Given the description of an element on the screen output the (x, y) to click on. 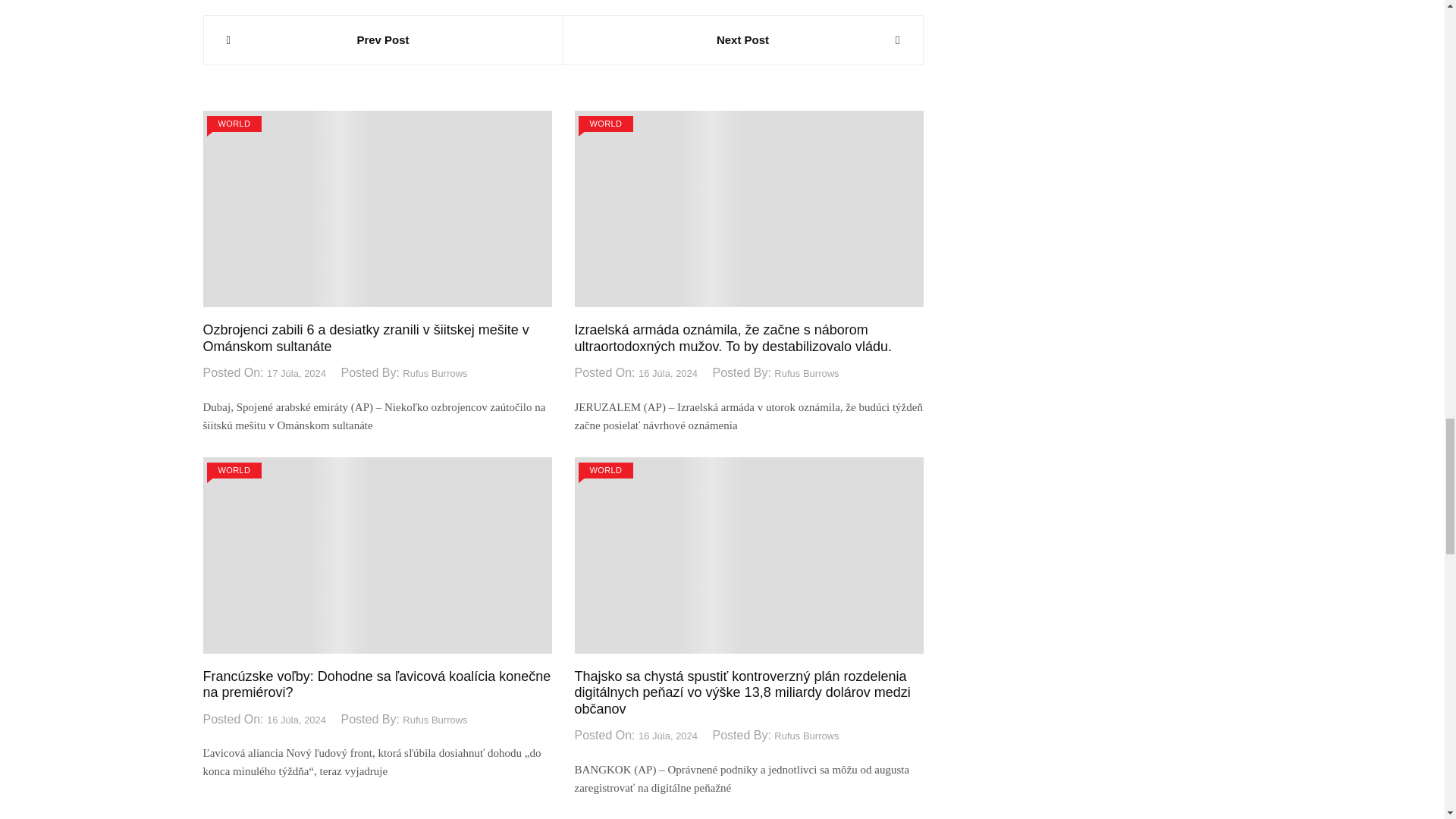
Next Post (742, 40)
WORLD (234, 123)
WORLD (234, 470)
Rufus Burrows (435, 374)
Rufus Burrows (806, 374)
Prev Post (381, 40)
WORLD (605, 123)
